Given the description of an element on the screen output the (x, y) to click on. 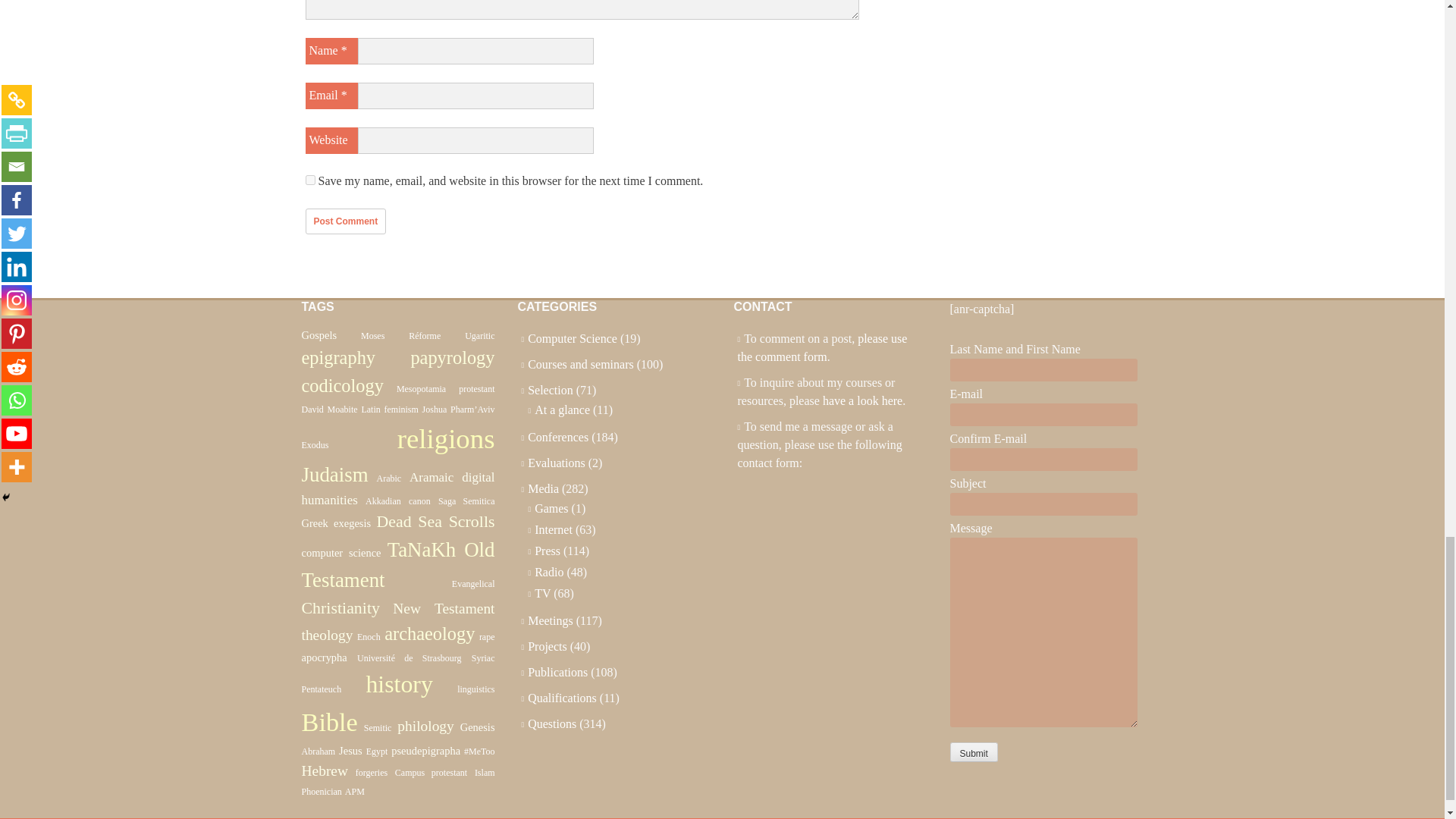
Submit (973, 752)
Post Comment (344, 221)
yes (309, 180)
